Given the description of an element on the screen output the (x, y) to click on. 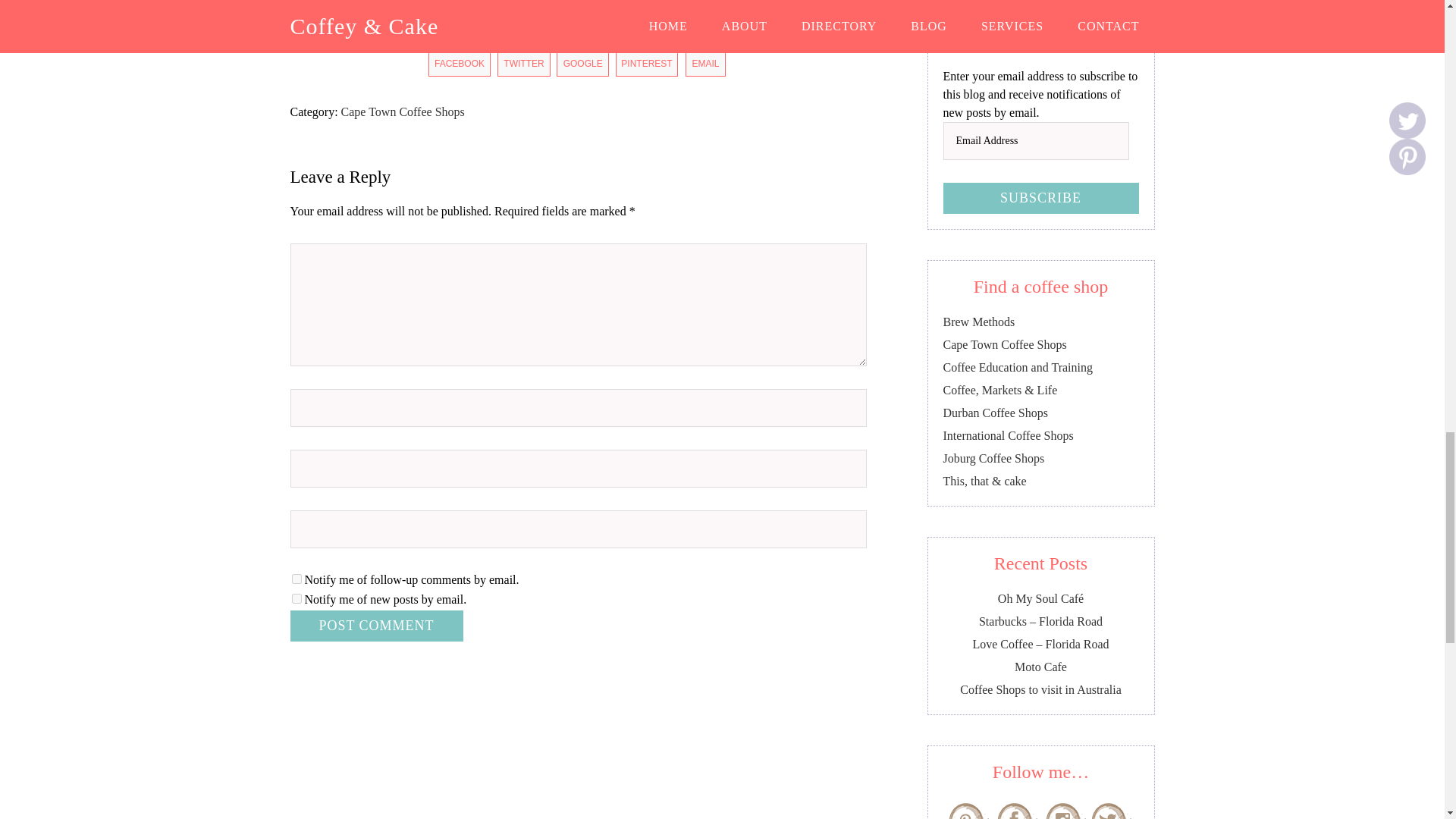
Brew Methods (978, 321)
subscribe (296, 578)
Subscribe (1040, 197)
FACEBOOK (459, 63)
Post Comment (376, 625)
Coffee Shops to visit in Australia (1040, 689)
Click to email this to a friend (705, 63)
GOOGLE (582, 63)
Click to share on Twitter (523, 63)
PINTEREST (646, 63)
